Given the description of an element on the screen output the (x, y) to click on. 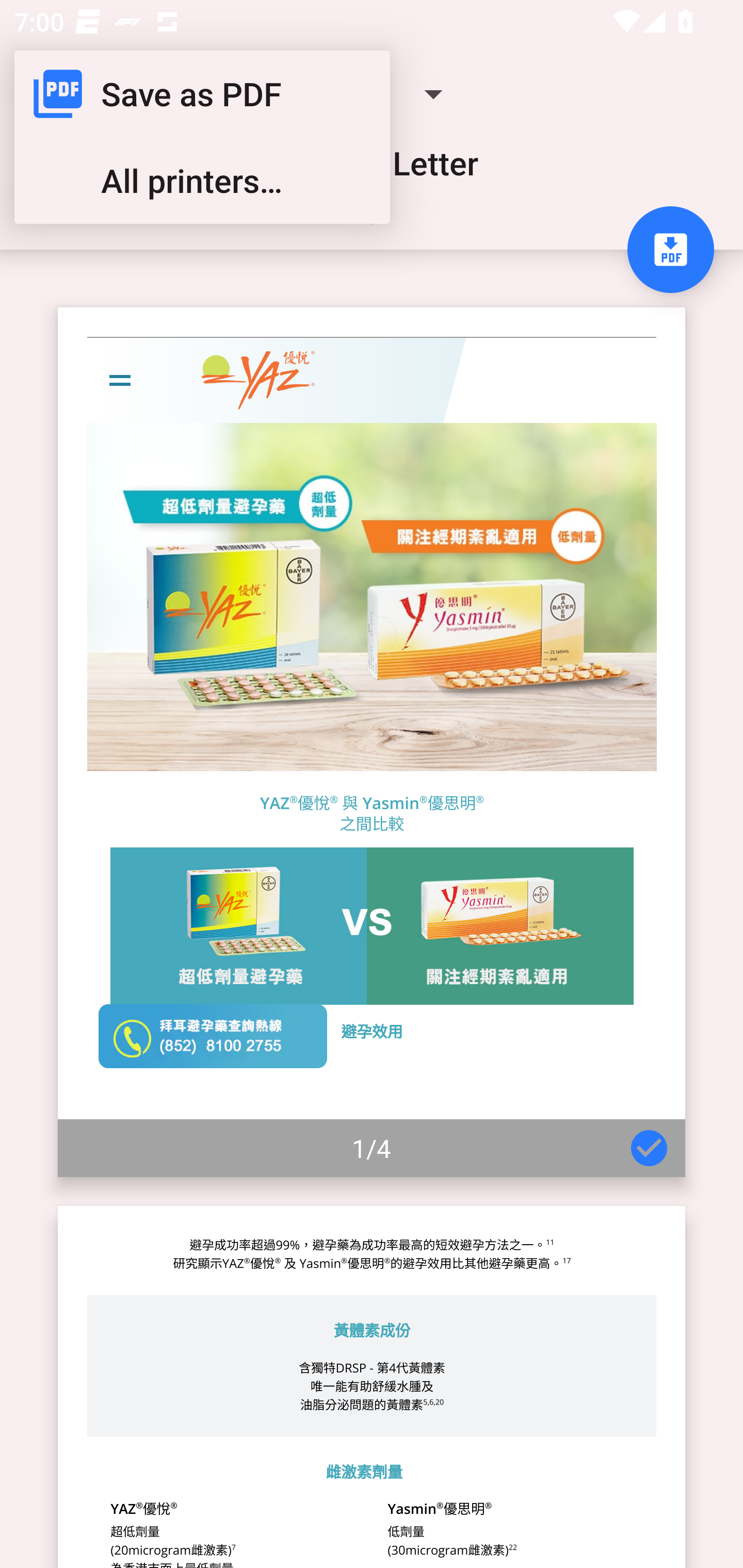
Save as PDF (202, 93)
All printers… (202, 180)
